Given the description of an element on the screen output the (x, y) to click on. 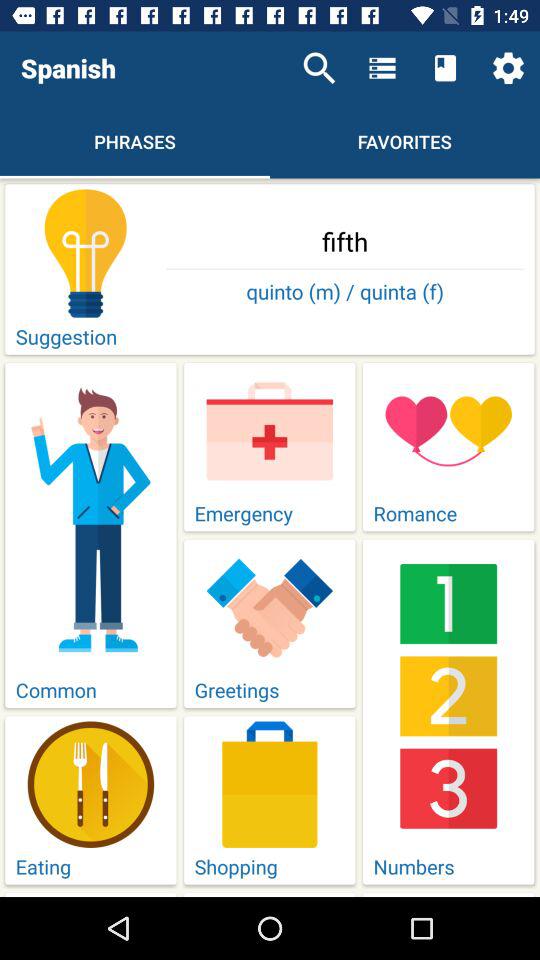
turn off the icon to the right of spanish icon (319, 67)
